Given the description of an element on the screen output the (x, y) to click on. 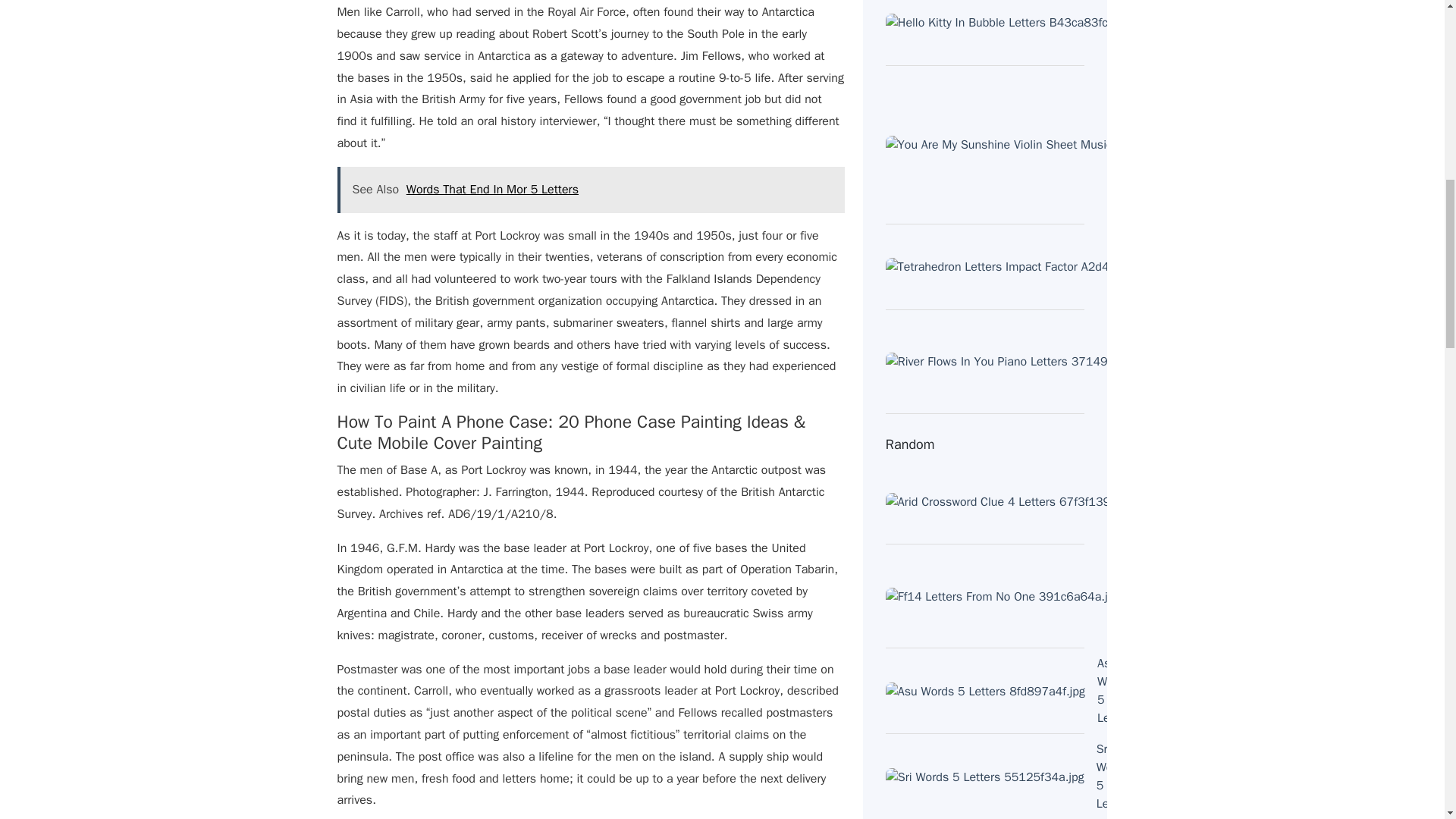
See Also  Words That End In Mor 5 Letters (590, 189)
